Given the description of an element on the screen output the (x, y) to click on. 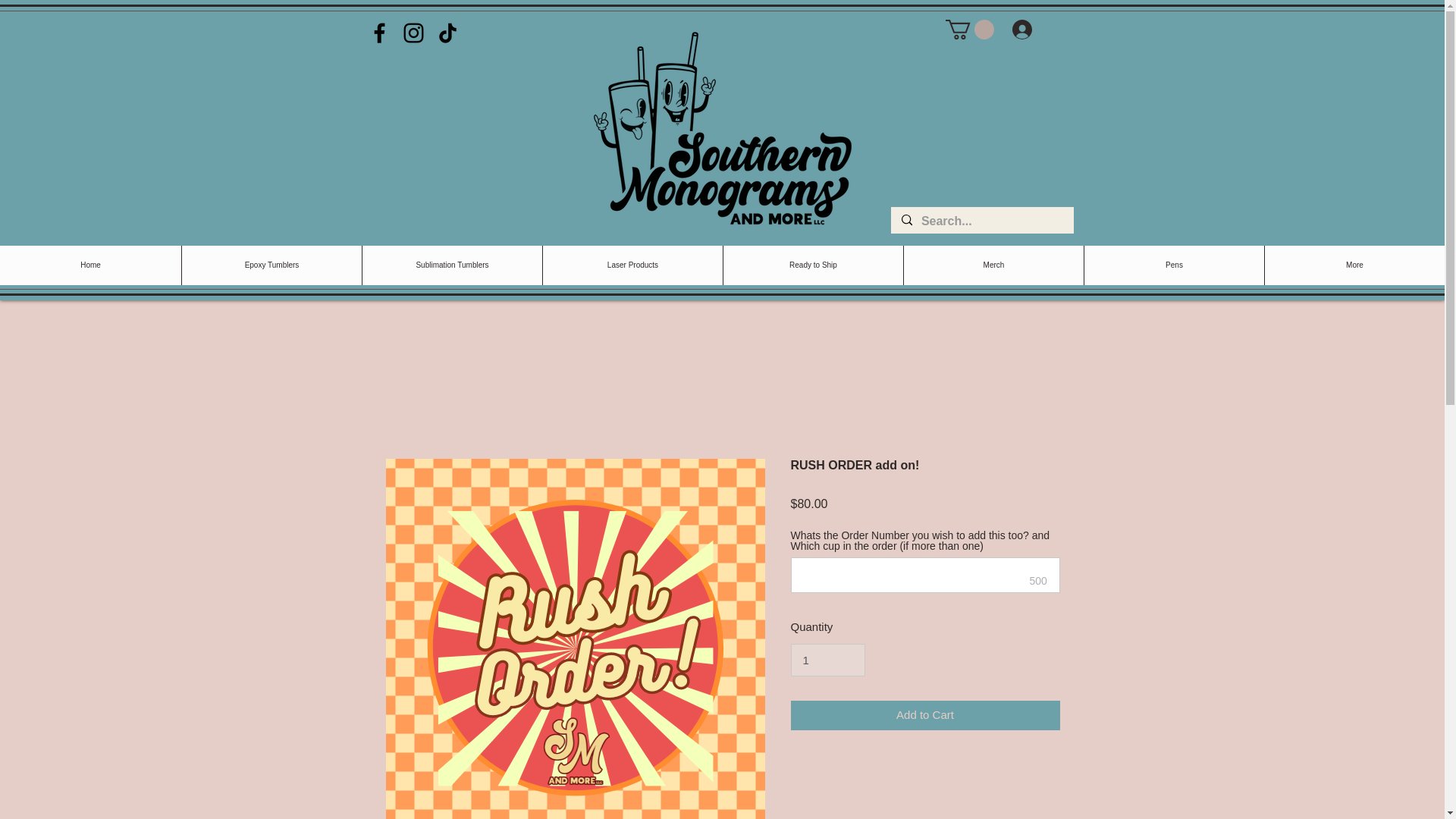
1 (827, 660)
Home (90, 265)
Merch (992, 265)
Laser Products (631, 265)
Pens (1173, 265)
Log In (1045, 29)
Epoxy Tumblers (270, 265)
Sublimation Tumblers (451, 265)
Ready to Ship (812, 265)
